Given the description of an element on the screen output the (x, y) to click on. 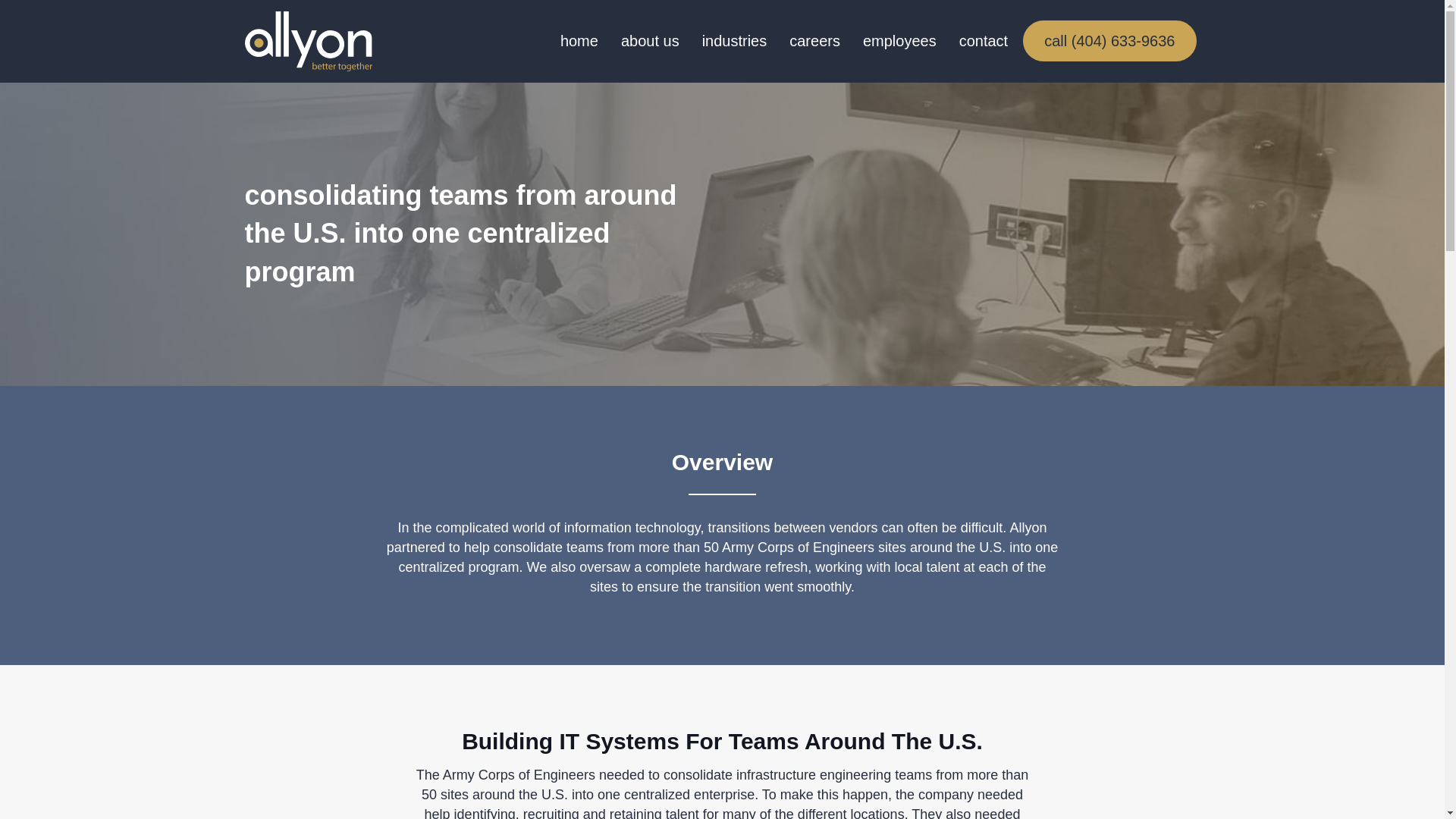
about us (649, 40)
contact (983, 40)
careers (814, 40)
home (579, 40)
industries (734, 40)
employees (899, 40)
Allyon, Better Together (307, 41)
